Given the description of an element on the screen output the (x, y) to click on. 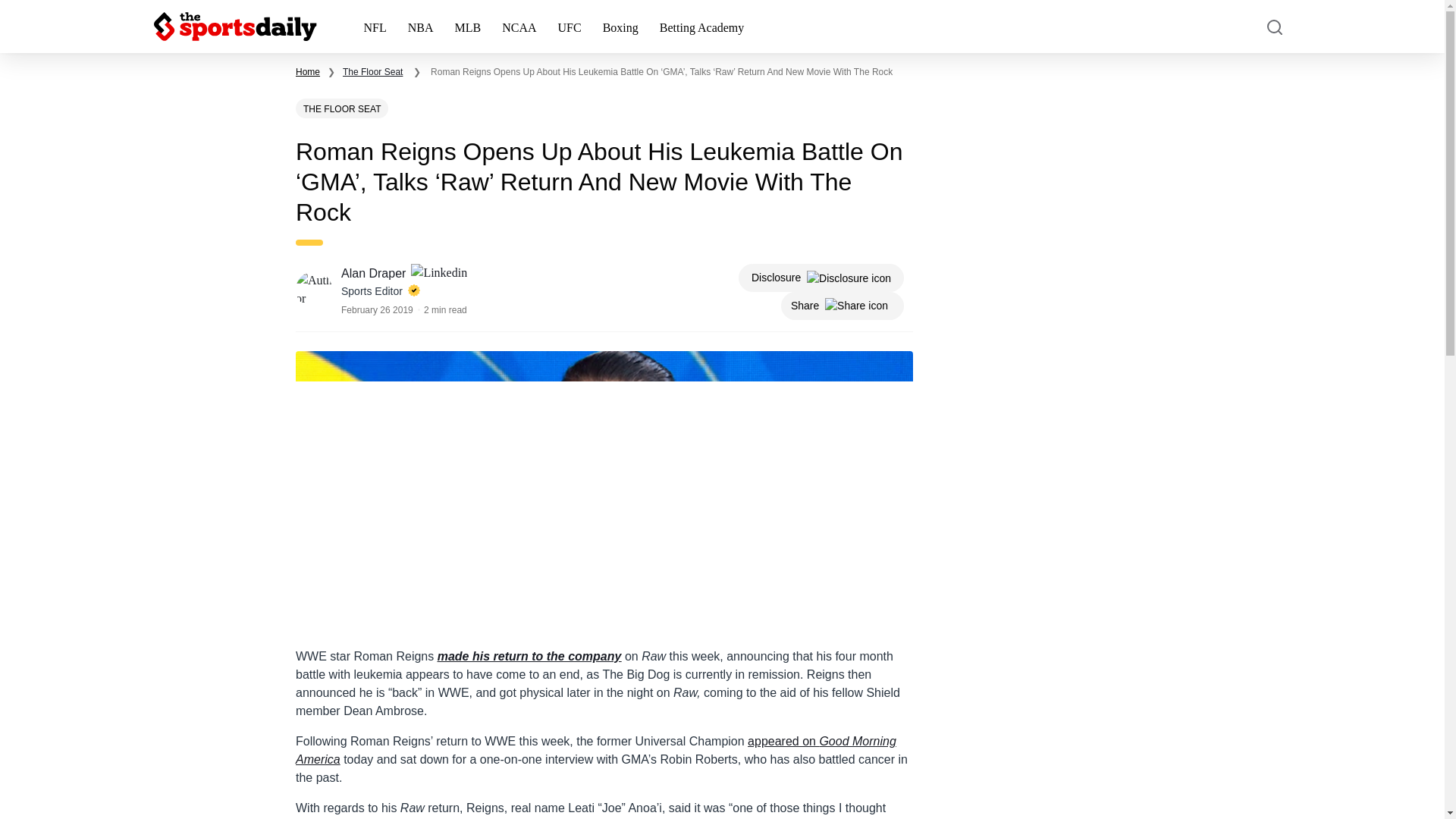
appeared on Good Morning America (595, 749)
The Floor Seat (372, 71)
made his return to the company (529, 656)
NCAA (519, 26)
Home (307, 71)
Alan Draper (374, 273)
Share   (842, 305)
MLB (468, 26)
Betting Academy (702, 26)
Boxing (620, 26)
THE FLOOR SEAT (341, 107)
